Given the description of an element on the screen output the (x, y) to click on. 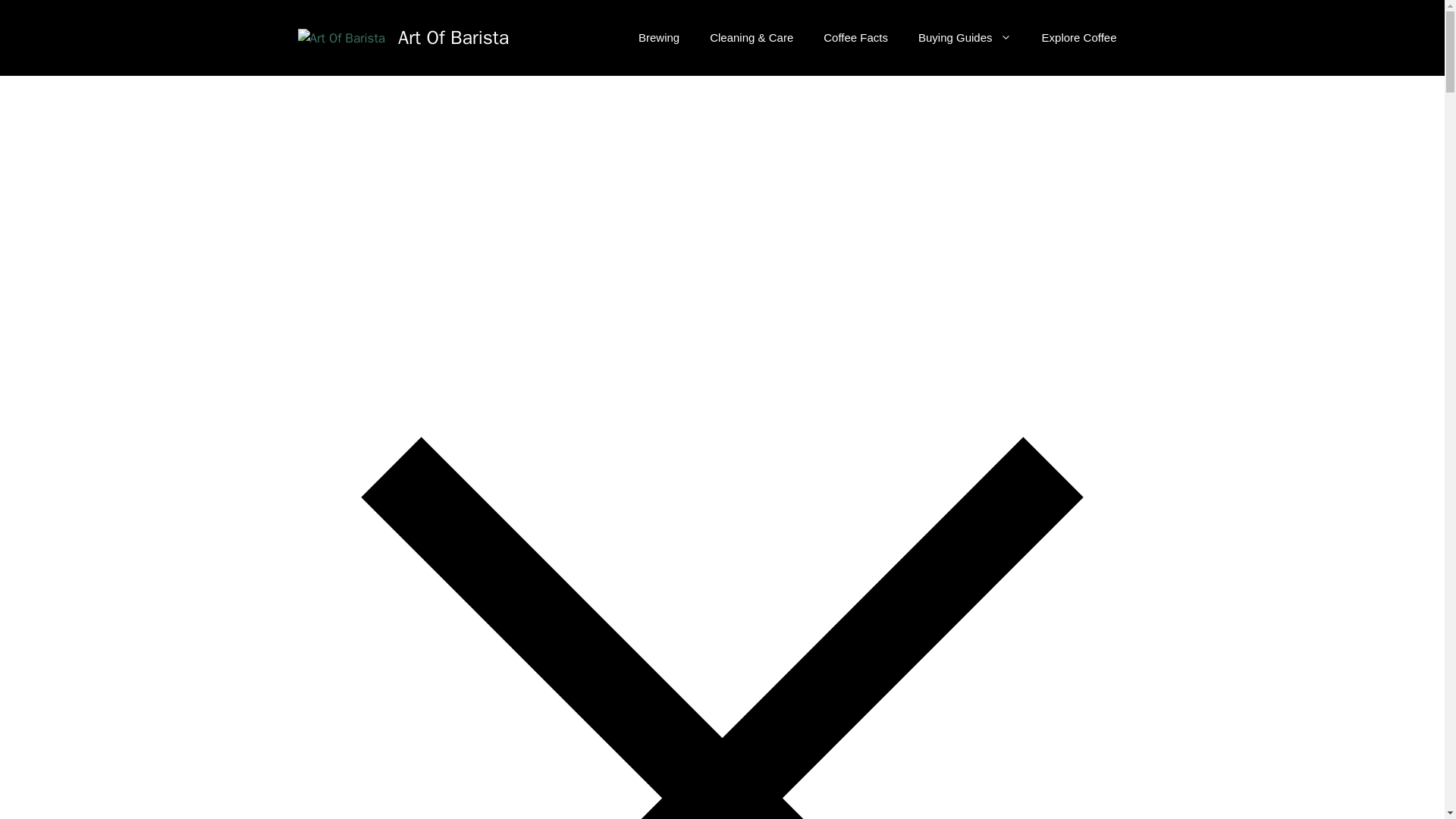
Explore Coffee (1079, 37)
Brewing (658, 37)
Coffee Facts (855, 37)
Art Of Barista (452, 37)
Buying Guides (964, 37)
